Given the description of an element on the screen output the (x, y) to click on. 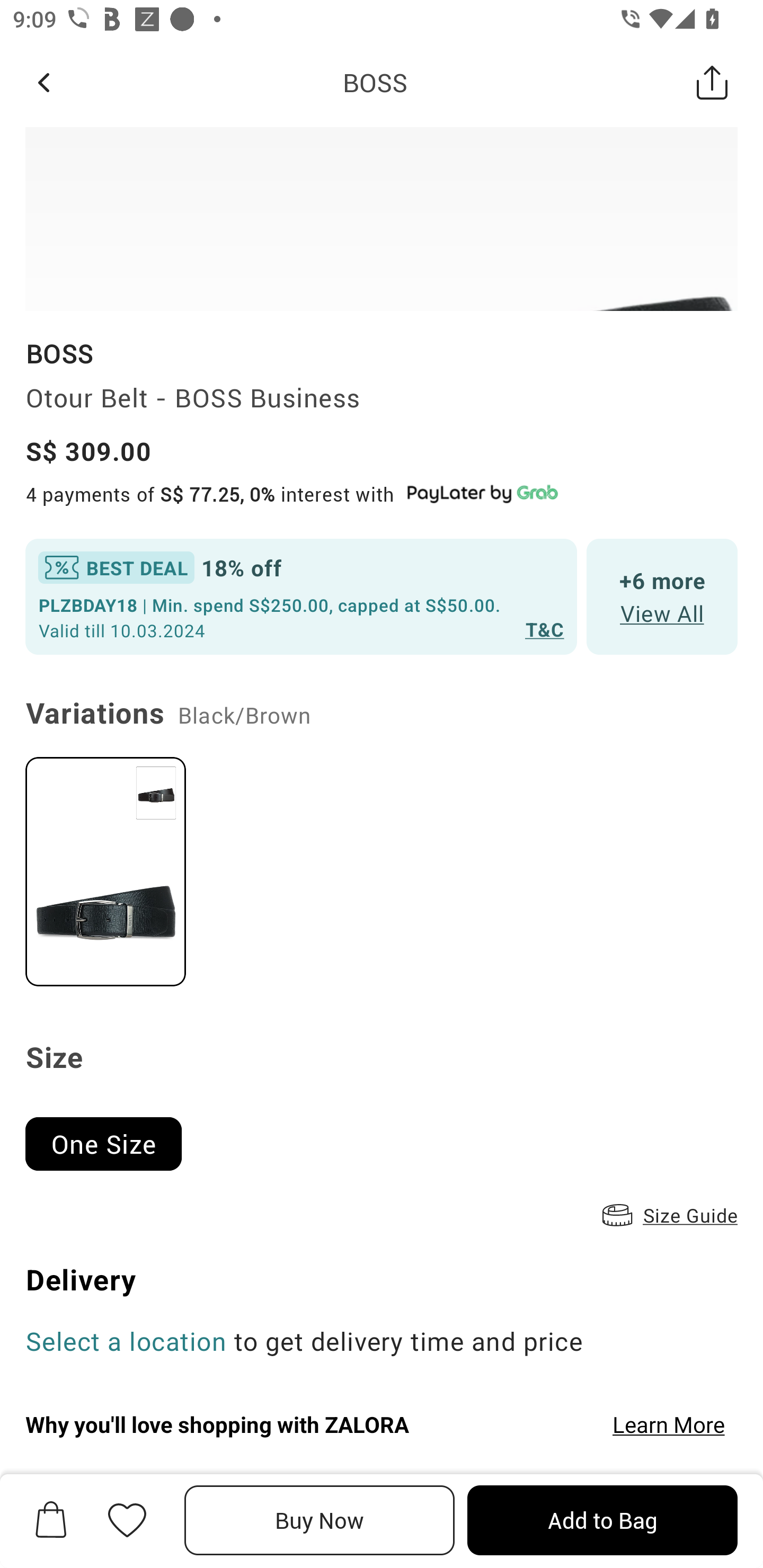
BOSS (375, 82)
Share this Product (711, 82)
BOSS (59, 353)
+6 more
View All (661, 597)
T&C (544, 628)
One Size (111, 1135)
Size Guide (667, 1215)
Learn More (668, 1424)
Buy Now (319, 1519)
Add to Bag (601, 1519)
